Given the description of an element on the screen output the (x, y) to click on. 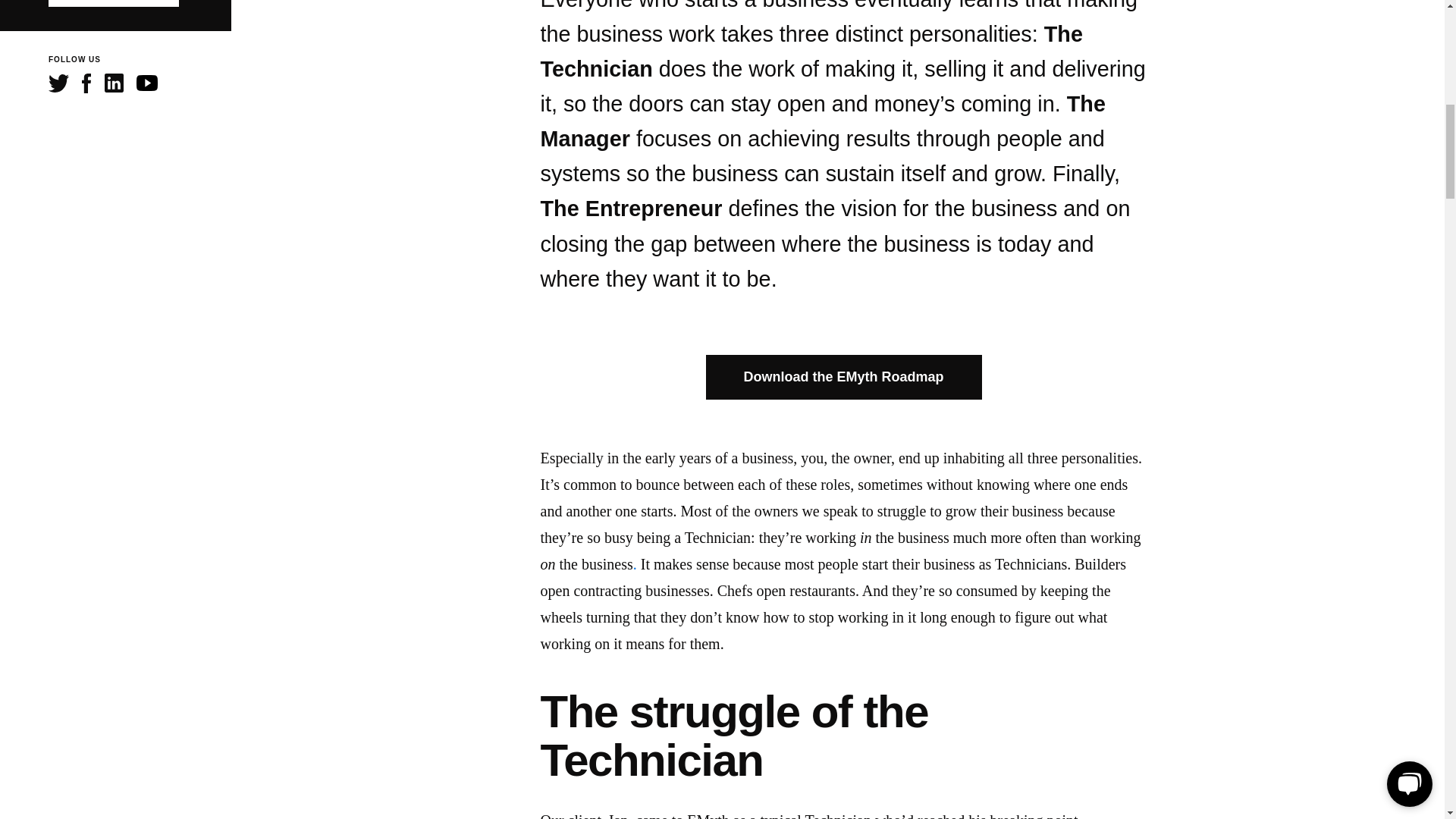
Download the EMyth Roadmap (842, 376)
Talk to a Coach (113, 3)
Talk to a Coach (113, 3)
